Given the description of an element on the screen output the (x, y) to click on. 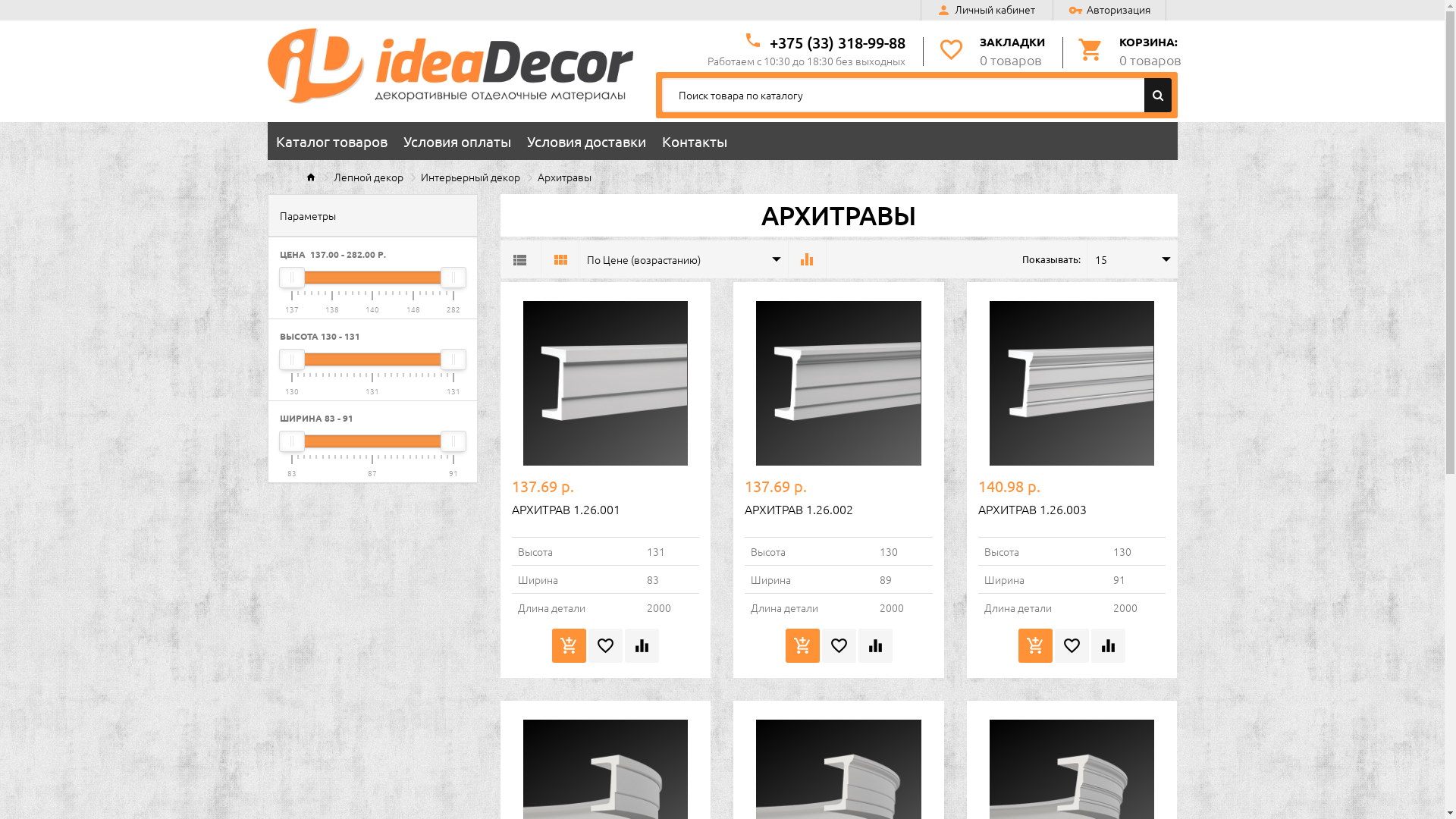
IdeaDecor Element type: hover (449, 65)
+375 (33) 318-99-88 Element type: text (836, 42)
15 Element type: text (1120, 259)
